Given the description of an element on the screen output the (x, y) to click on. 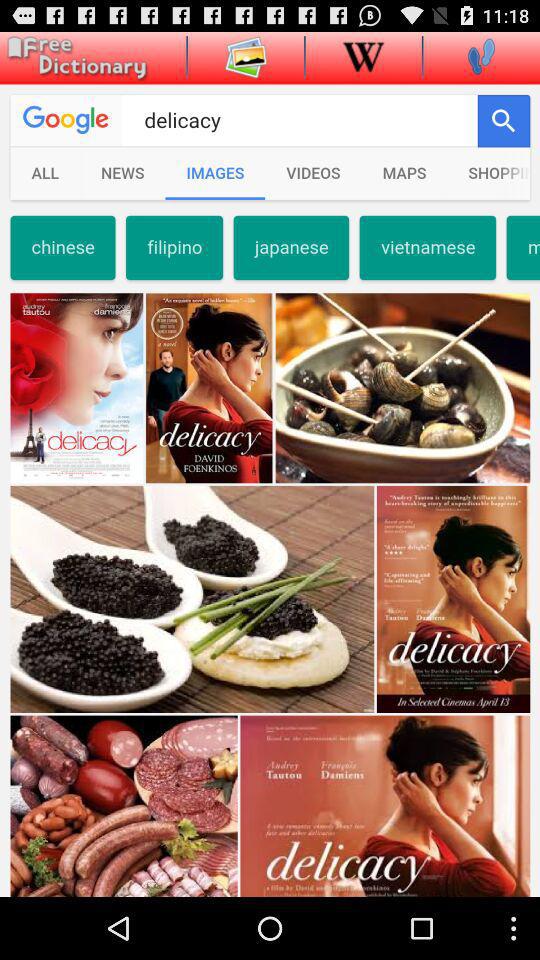
main menu (74, 58)
